Given the description of an element on the screen output the (x, y) to click on. 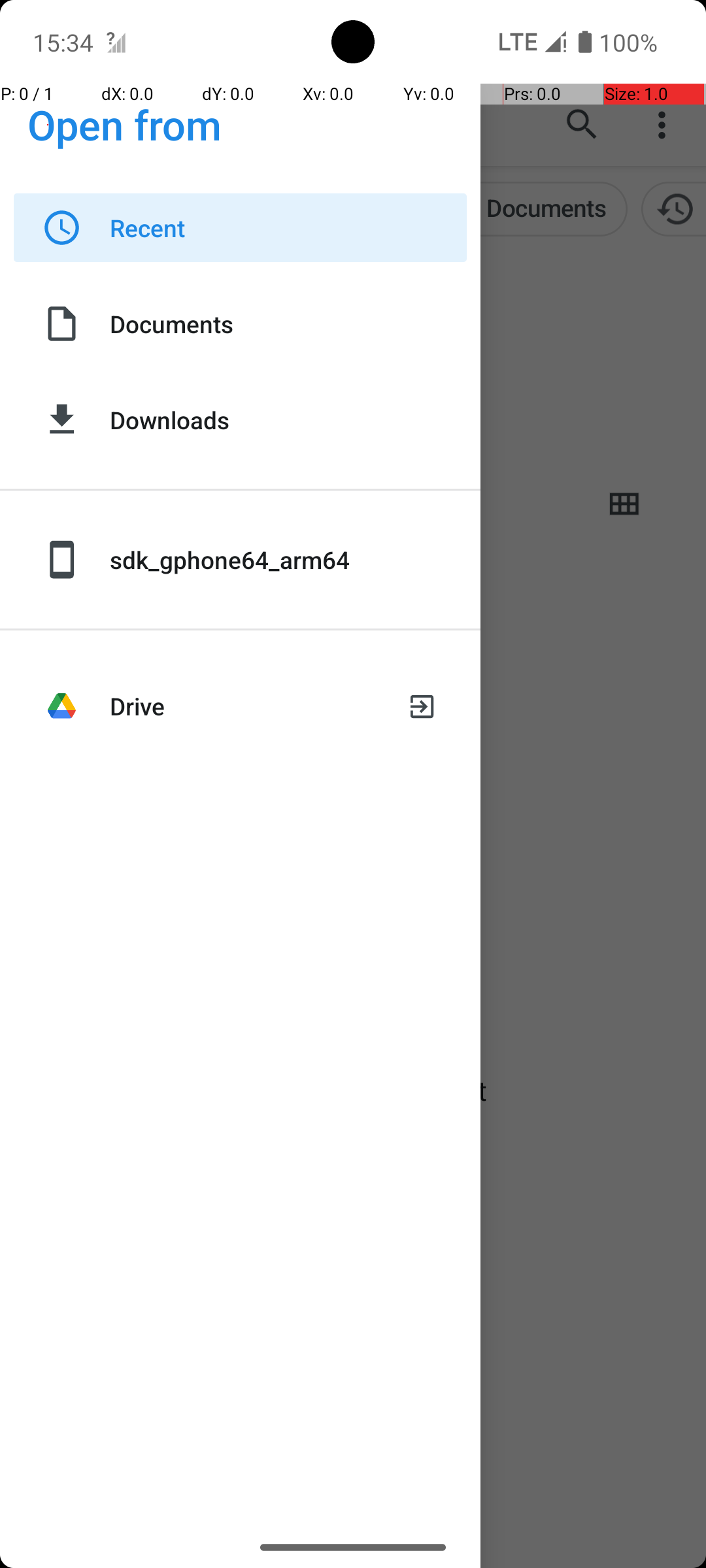
Open from Element type: android.widget.TextView (124, 124)
